Given the description of an element on the screen output the (x, y) to click on. 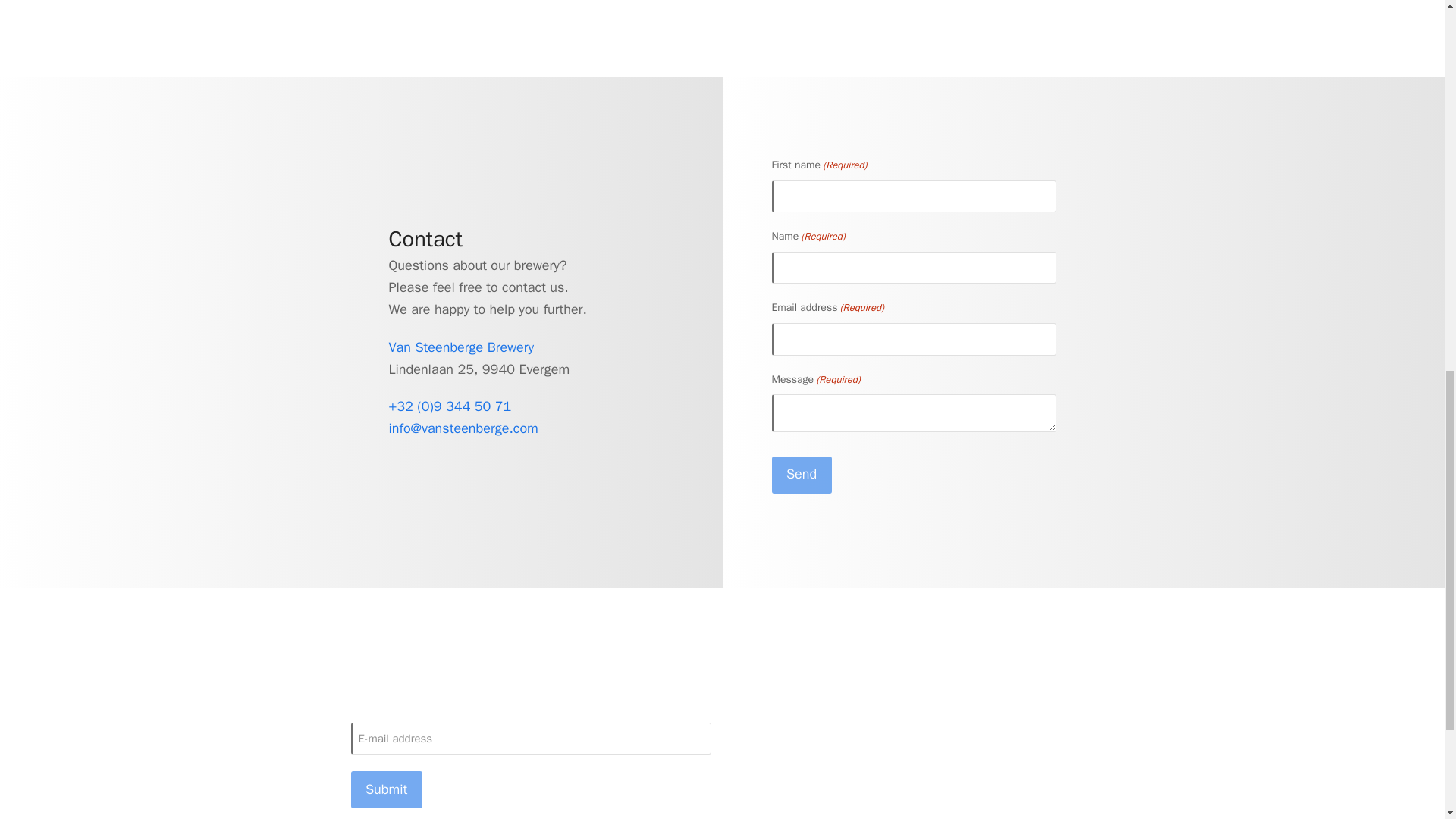
Submit (386, 789)
Send (801, 474)
Submit (386, 789)
Van Steenberge Brewery (461, 347)
Send (801, 474)
